Given the description of an element on the screen output the (x, y) to click on. 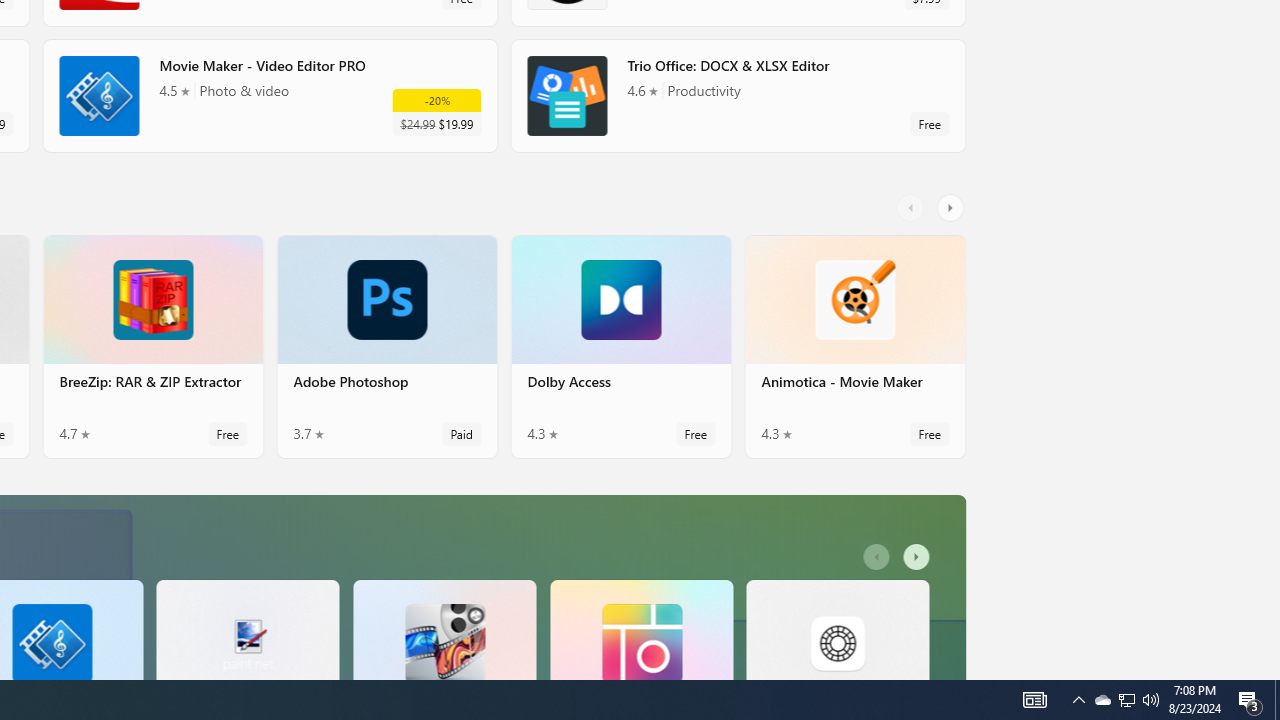
AutomationID: LeftScrollButton (878, 557)
AutomationID: RightScrollButton (919, 557)
Pic Collage. Average rating of 4.8 out of five stars. Free   (641, 628)
